Given the description of an element on the screen output the (x, y) to click on. 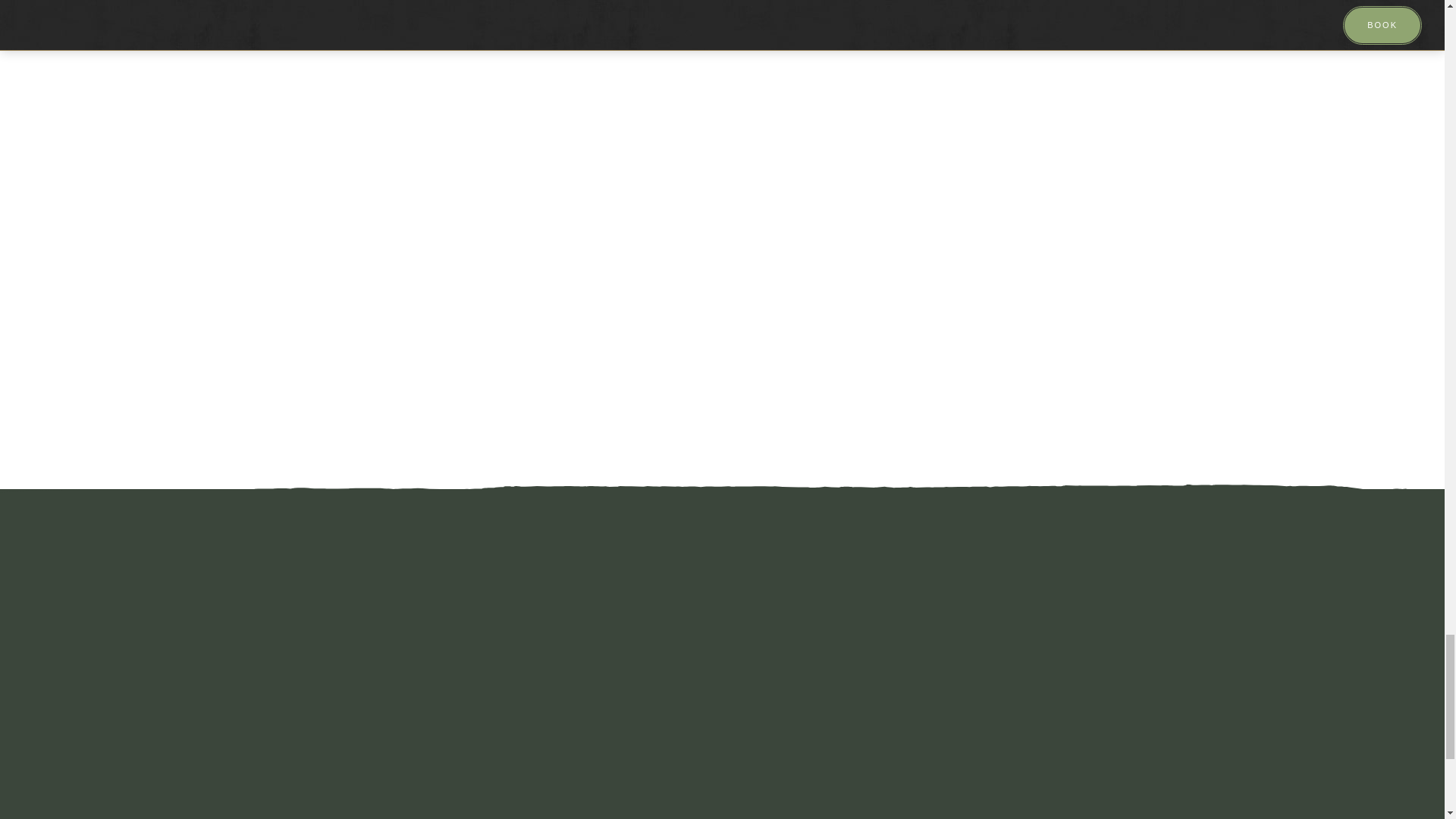
Submit (871, 536)
